Given the description of an element on the screen output the (x, y) to click on. 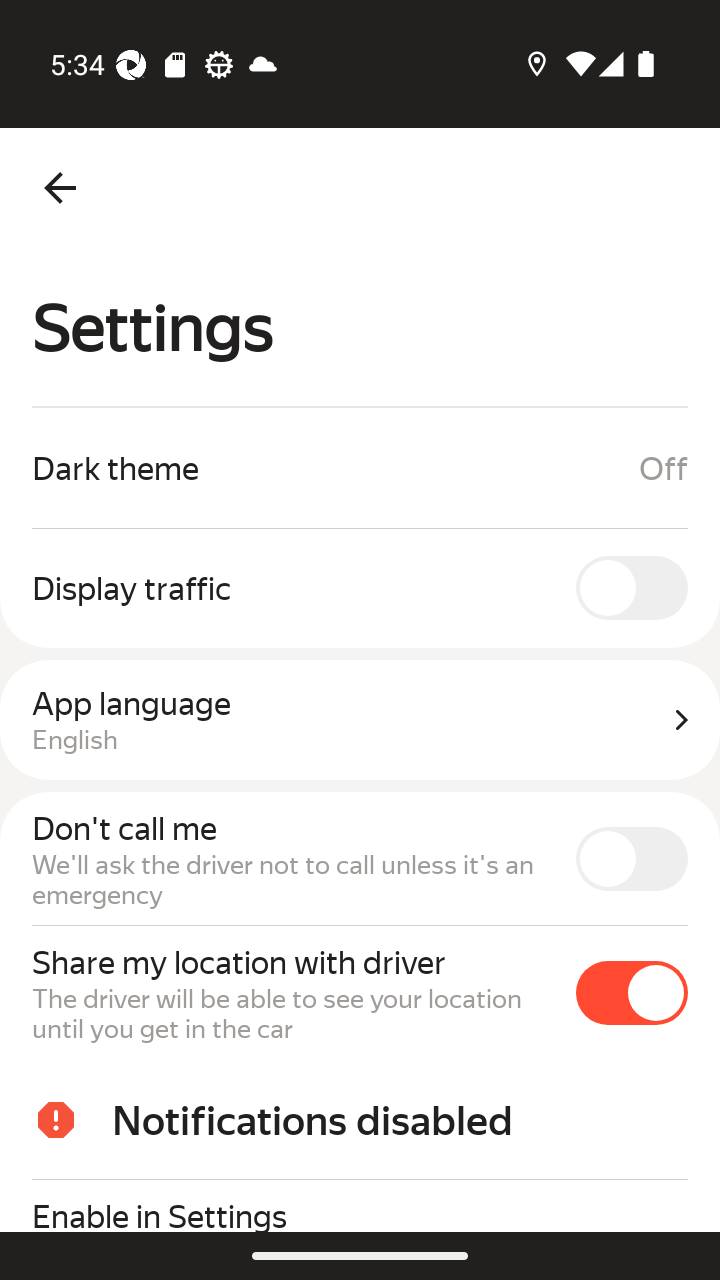
Back (60, 188)
Dark theme Dark theme Off Off (360, 467)
Display traffic (360, 587)
App language, English App language English (360, 719)
